Given the description of an element on the screen output the (x, y) to click on. 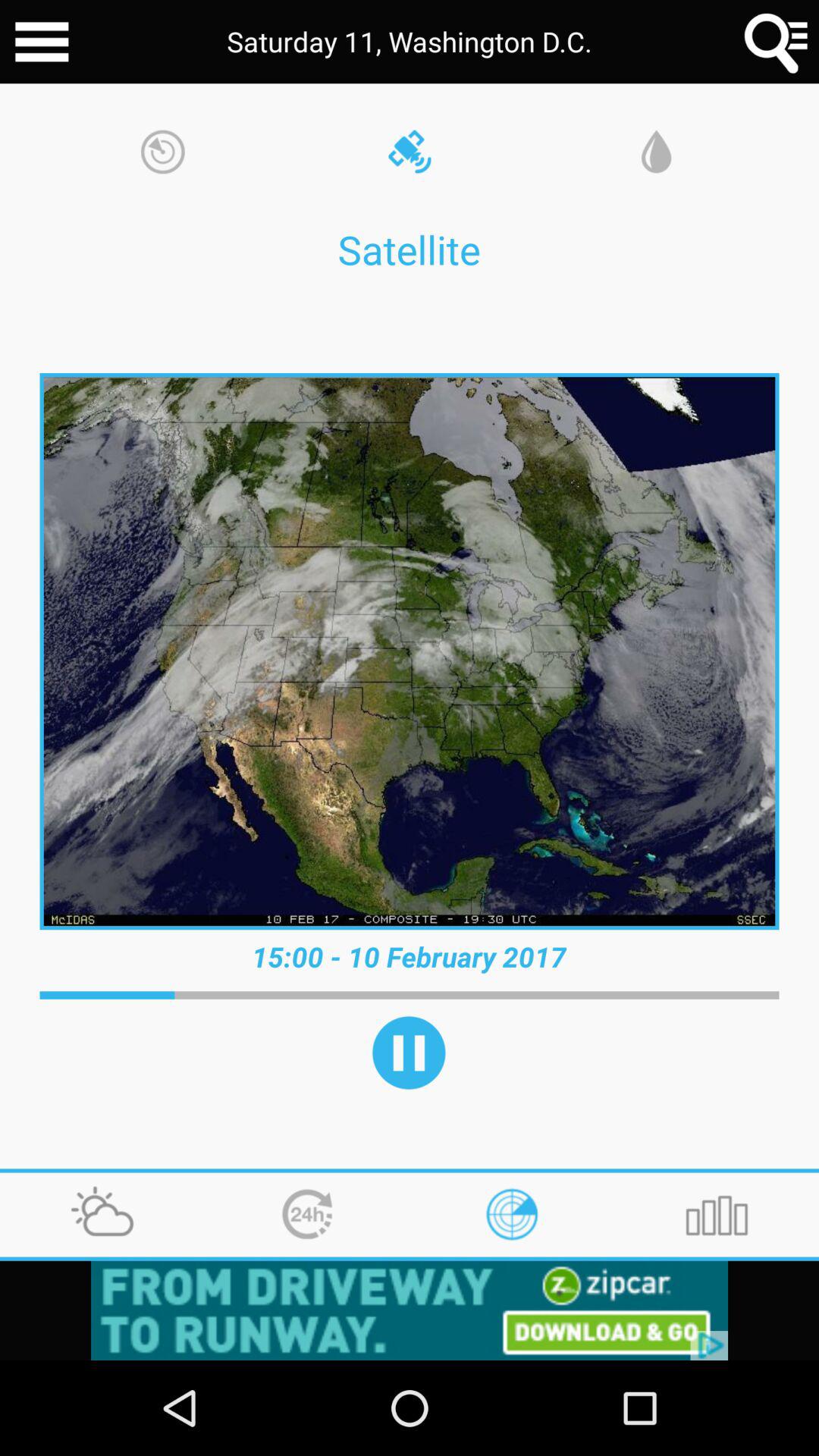
satellite picture (409, 651)
